Given the description of an element on the screen output the (x, y) to click on. 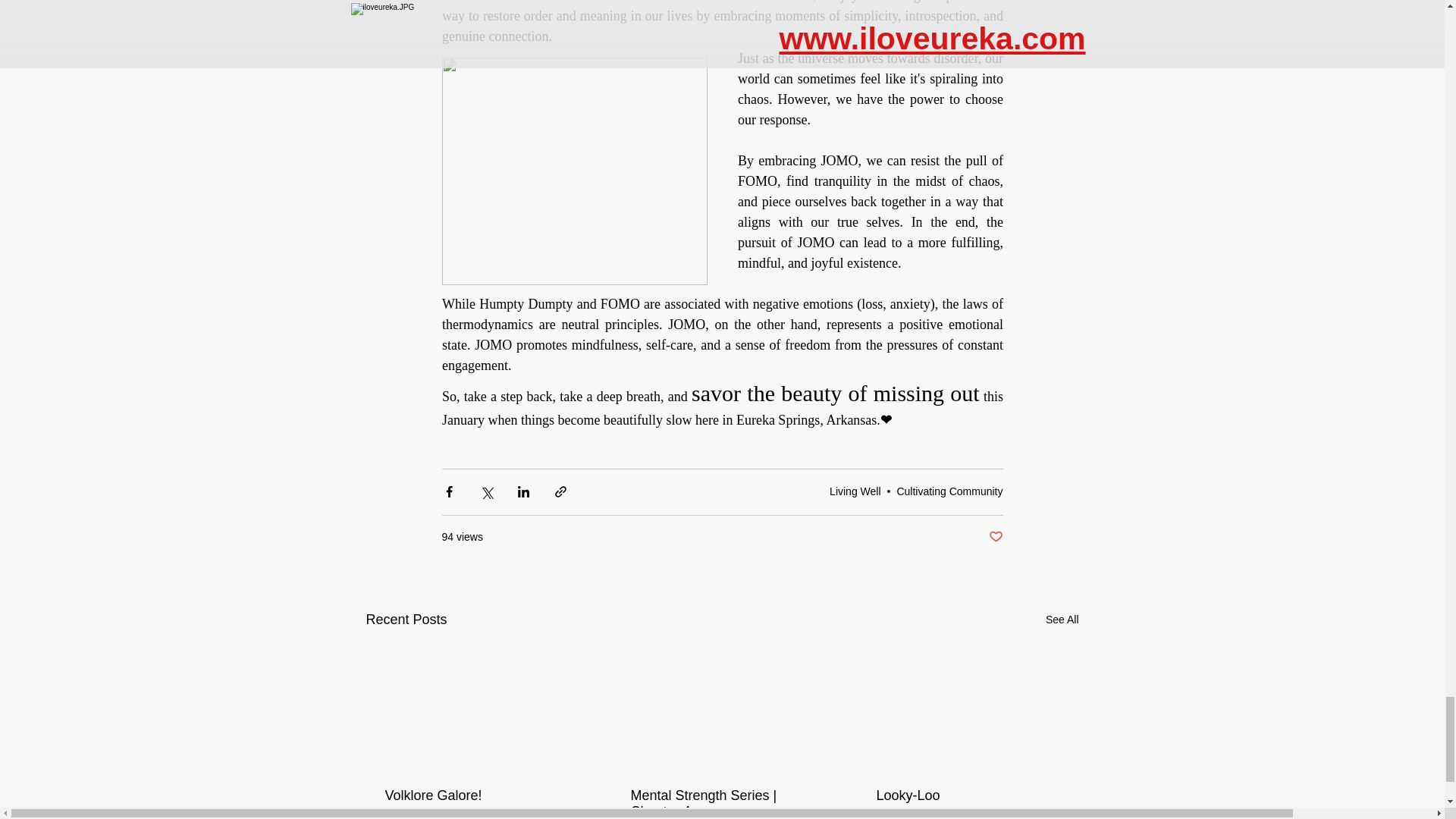
Cultivating Community (949, 491)
Living Well (854, 491)
Post not marked as liked (995, 537)
Volklore Galore! (476, 795)
Looky-Loo (967, 795)
See All (1061, 619)
